Given the description of an element on the screen output the (x, y) to click on. 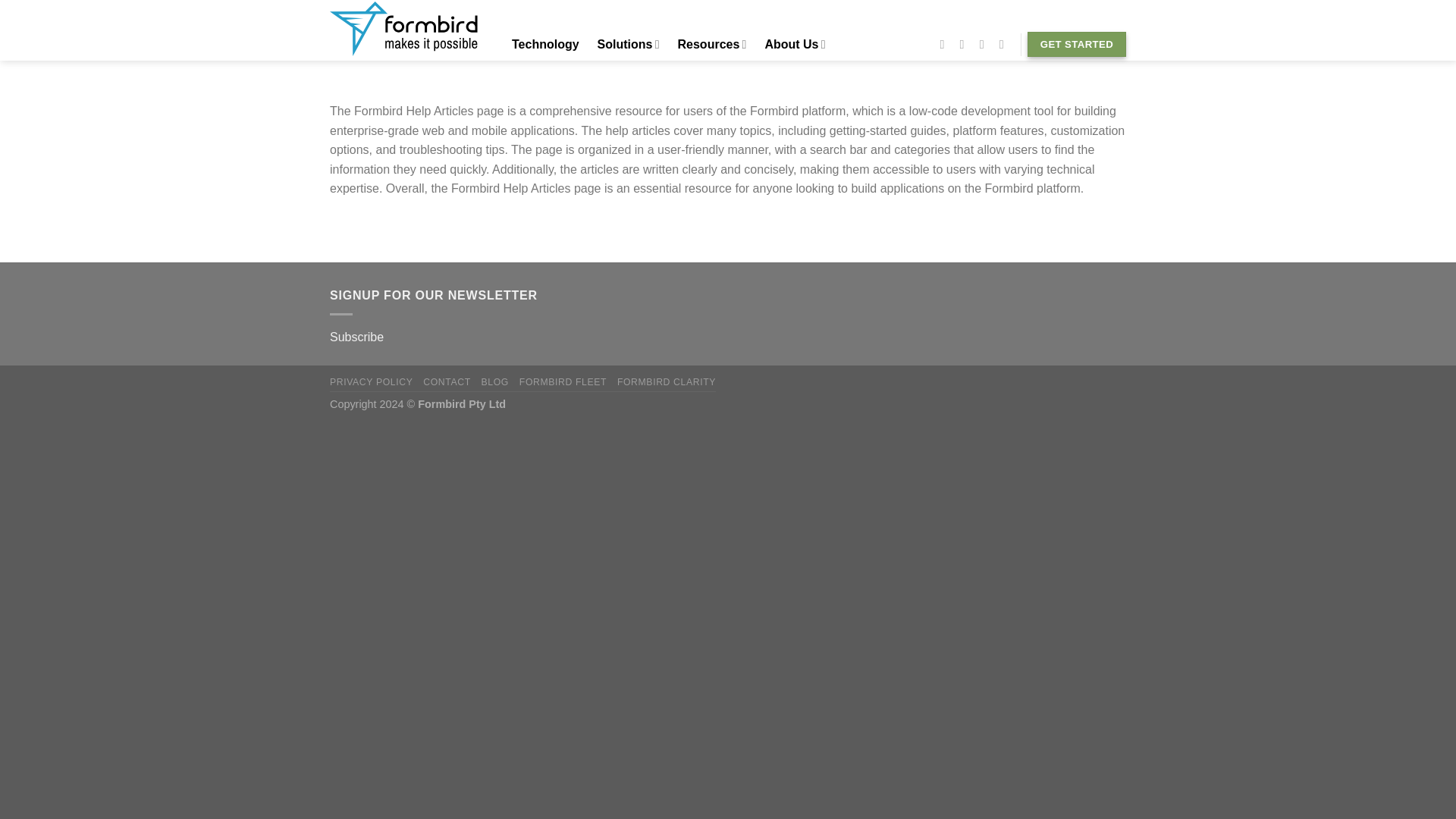
Technology (545, 44)
Solutions (628, 44)
About Us (794, 44)
Resources (711, 44)
Follow on Facebook (945, 43)
Formbird -  DIGITAL EMPOWERMENT (405, 29)
